Given the description of an element on the screen output the (x, y) to click on. 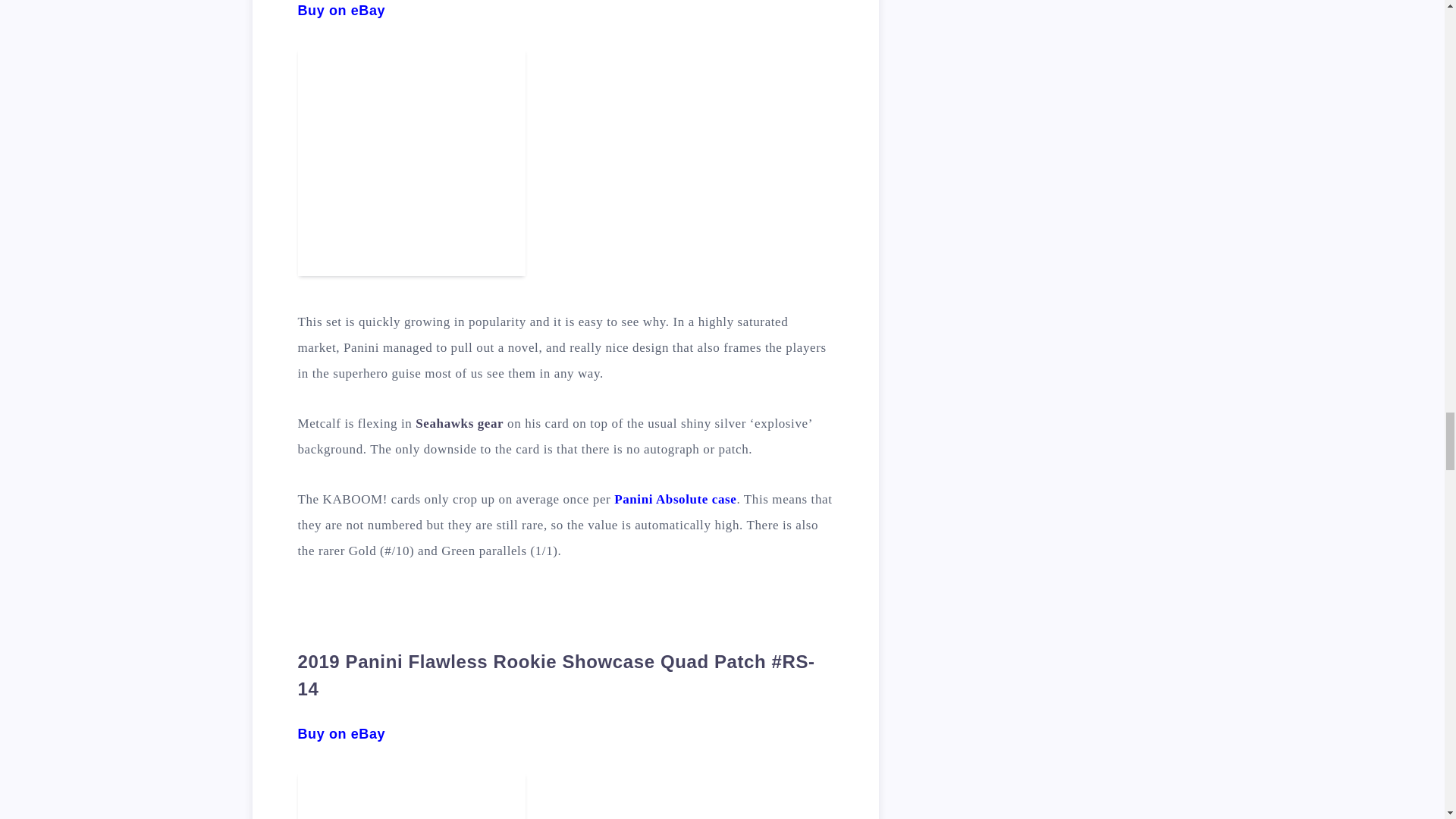
Panini Absolute case (675, 499)
Buy on eBay (341, 734)
Seahawks gear (458, 423)
Buy on eBay (341, 10)
